Given the description of an element on the screen output the (x, y) to click on. 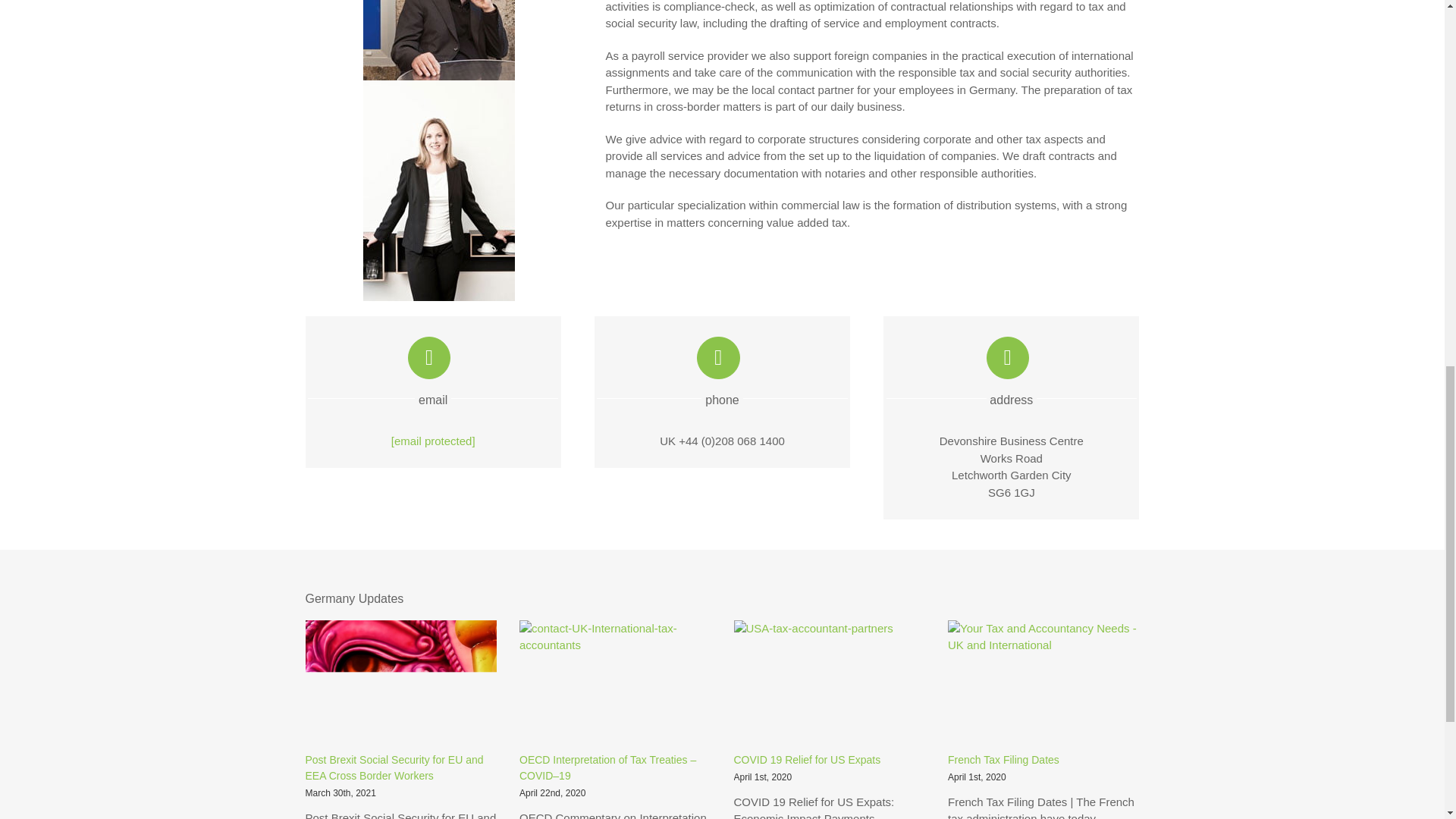
joachim-german-associate (437, 40)
